Given the description of an element on the screen output the (x, y) to click on. 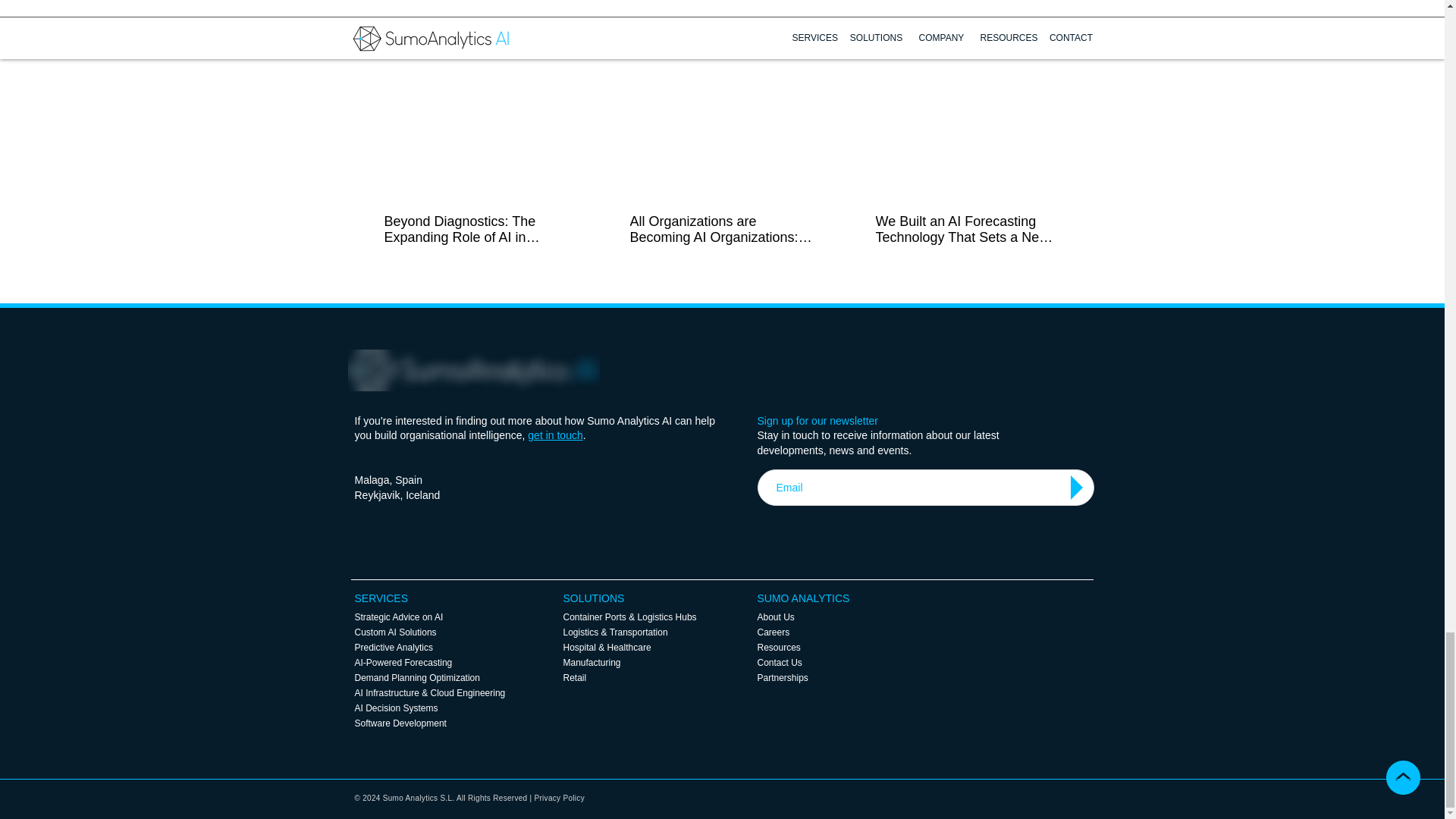
get in touch (554, 435)
See All (1061, 45)
